Given the description of an element on the screen output the (x, y) to click on. 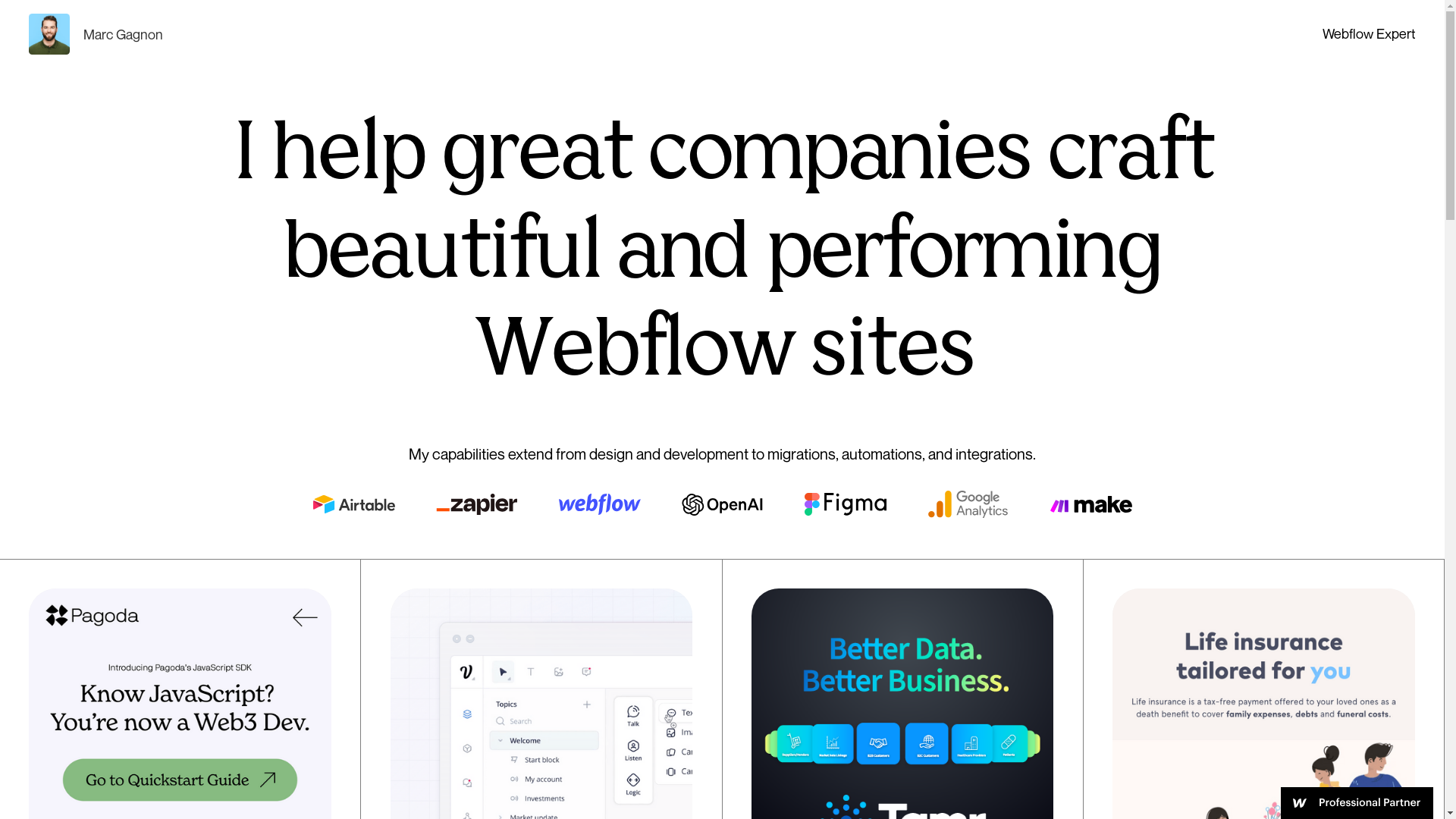
Marc Gagnon Element type: text (95, 33)
